Given the description of an element on the screen output the (x, y) to click on. 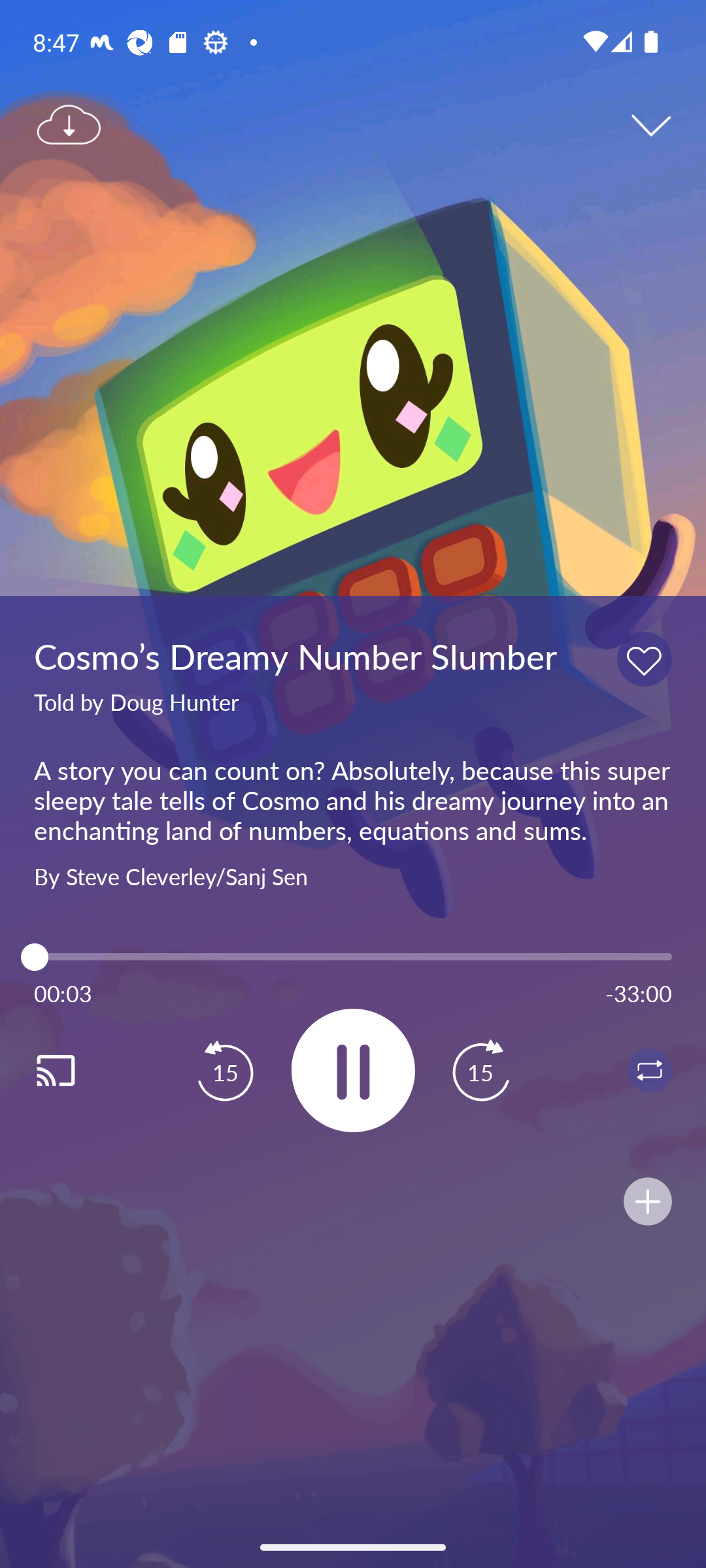
3.0 (352, 956)
Cast. Disconnected (76, 1070)
